Given the description of an element on the screen output the (x, y) to click on. 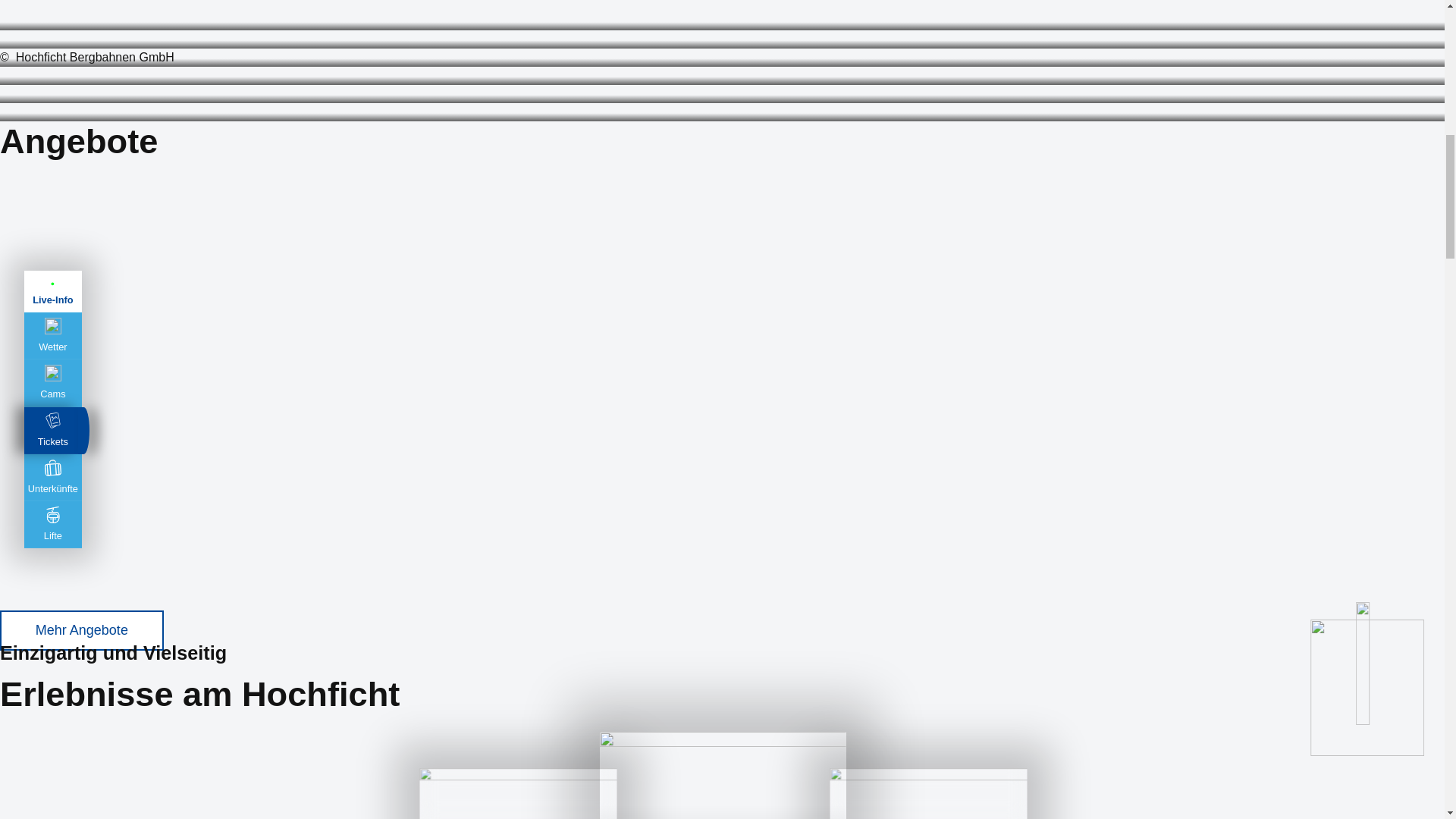
Bergherbst 24' (5, 38)
Entdecken (542, 794)
Entdecken (721, 775)
Bergluft schnuppern (5, 111)
Urlaubstipps (5, 20)
Weitere Angebote (81, 630)
Wanderparadies am Hochficht (5, 74)
